Given the description of an element on the screen output the (x, y) to click on. 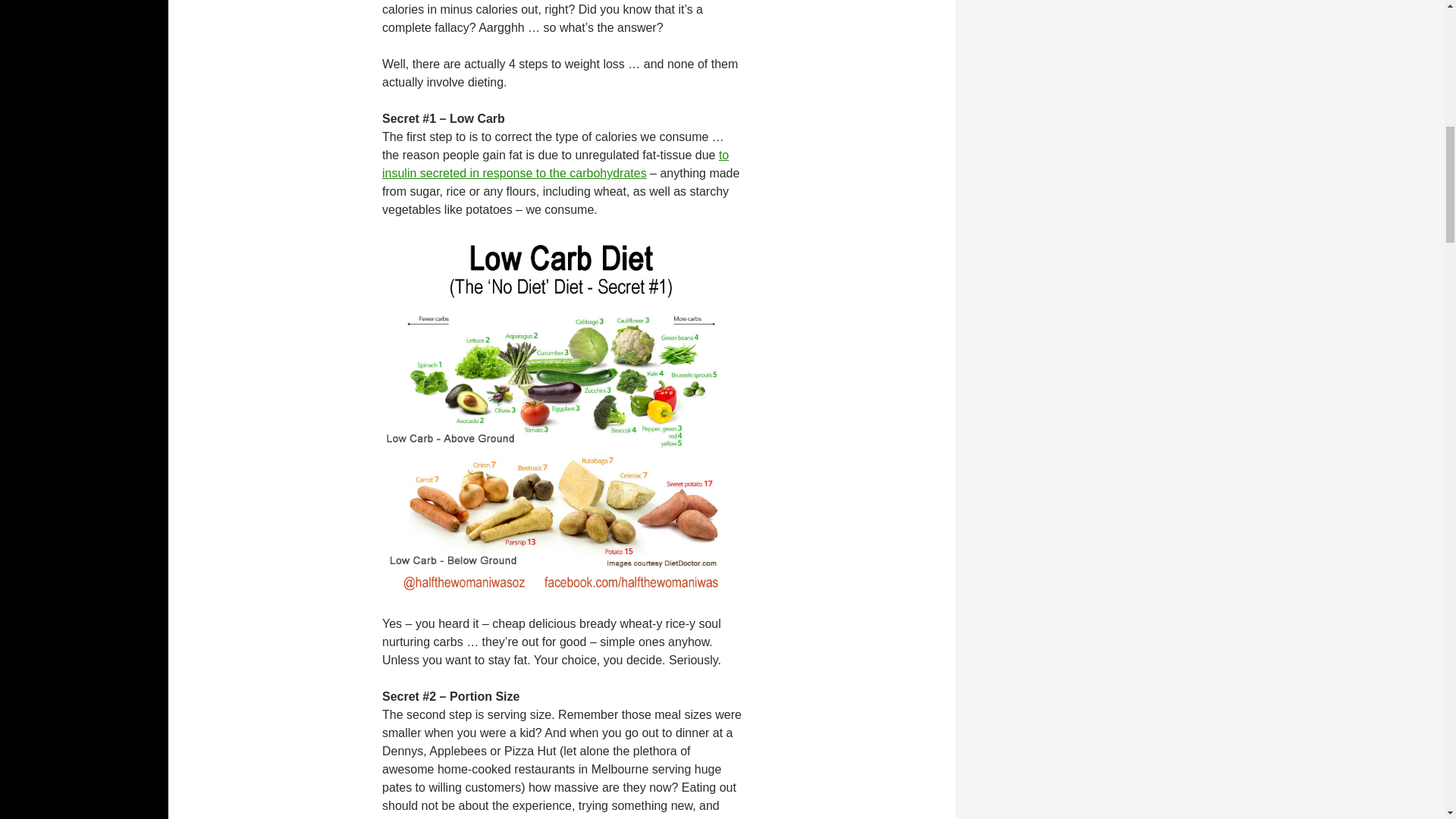
to insulin secreted in response to the carbohydrates (555, 163)
